Given the description of an element on the screen output the (x, y) to click on. 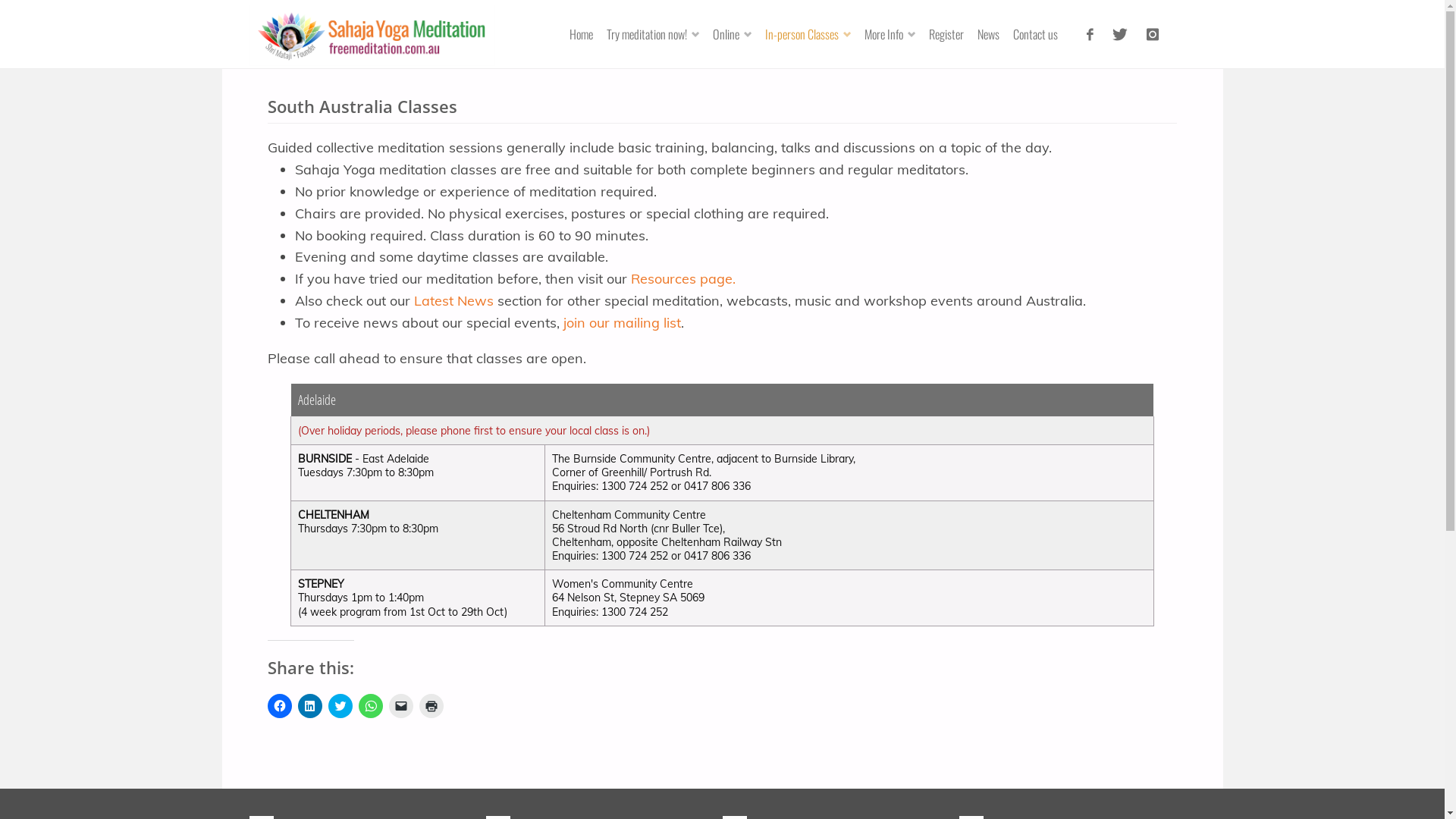
Free Meditation Worldwide Element type: hover (371, 33)
Latest News Element type: text (453, 300)
Online Element type: text (738, 34)
Register Element type: text (952, 34)
Click to print (Opens in new window) Element type: text (431, 705)
Follow on Facebook Element type: hover (1089, 34)
join our mailing list Element type: text (621, 322)
Click to share on Twitter (Opens in new window) Element type: text (340, 705)
Click to share on Facebook (Opens in new window) Element type: text (279, 705)
In-person Classes Element type: text (813, 34)
News Element type: text (993, 34)
More Info Element type: text (895, 34)
Click to share on WhatsApp (Opens in new window) Element type: text (370, 705)
Click to share on LinkedIn (Opens in new window) Element type: text (310, 705)
Try meditation now! Element type: text (658, 34)
Resources page. Element type: text (682, 278)
Home Element type: text (586, 34)
Contact us Element type: text (1040, 34)
Follow on Instagram Element type: hover (1151, 34)
Follow on Twitter Element type: hover (1119, 34)
Click to email a link to a friend (Opens in new window) Element type: text (401, 705)
